Given the description of an element on the screen output the (x, y) to click on. 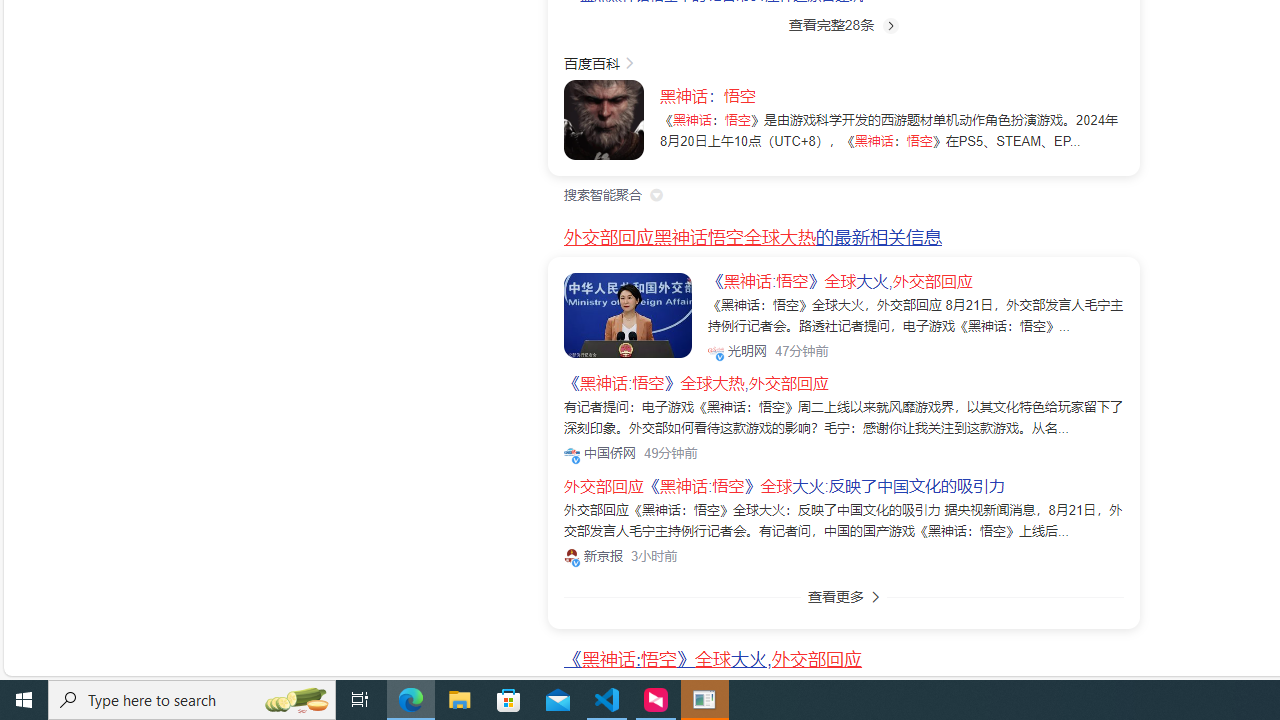
Class: c-img c-img-radius-large (628, 314)
